Given the description of an element on the screen output the (x, y) to click on. 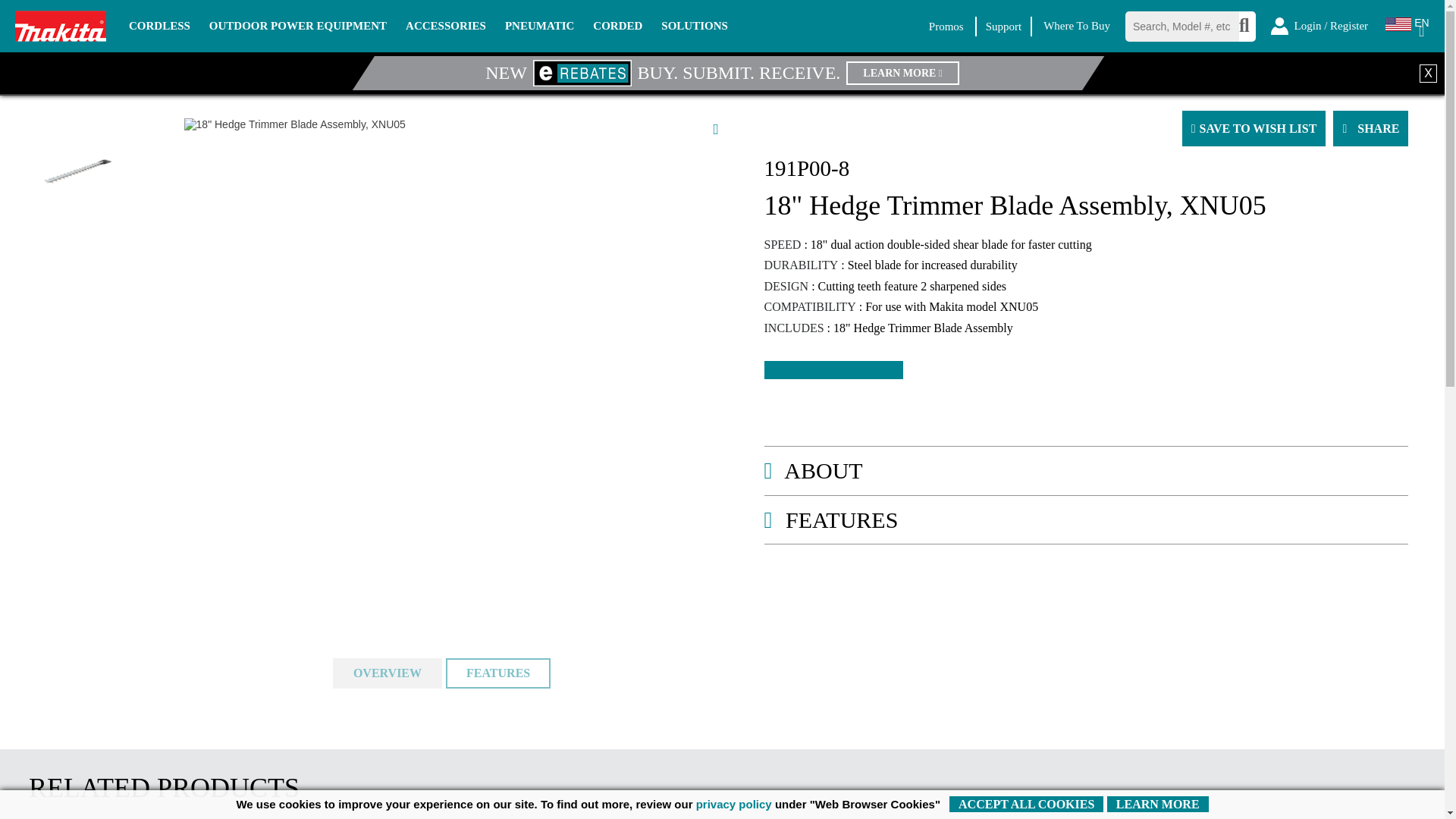
Where To Buy (1076, 26)
SIGN IN (1322, 25)
Close Promo Bar (1428, 72)
Promos (945, 25)
CORDLESS (159, 27)
Save to wish list (1254, 128)
Support (1003, 25)
